Given the description of an element on the screen output the (x, y) to click on. 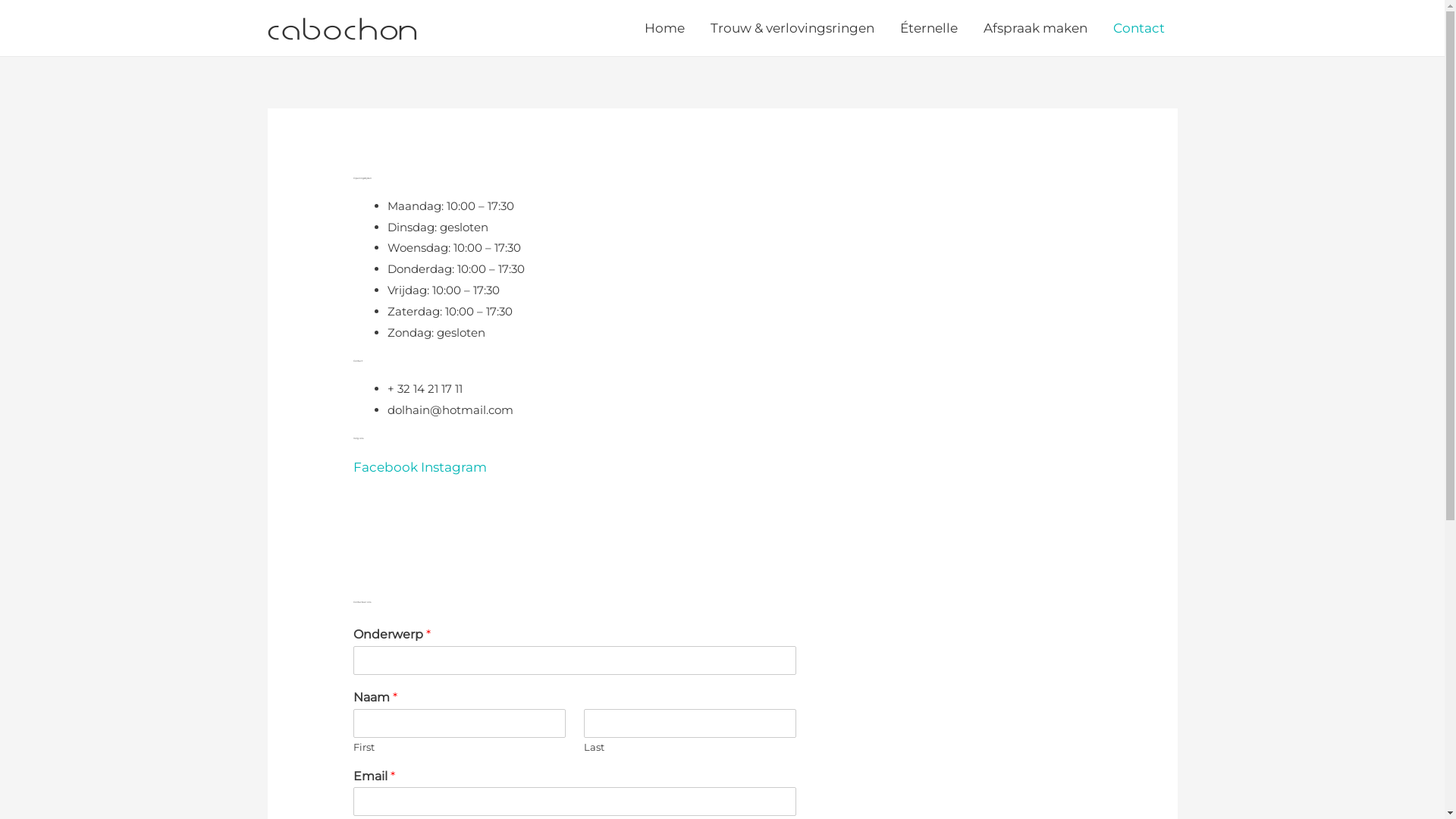
Contact Element type: text (1137, 28)
Afspraak maken Element type: text (1035, 28)
Instagram Element type: text (453, 466)
Trouw & verlovingsringen Element type: text (792, 28)
Facebook Element type: text (386, 466)
Home Element type: text (663, 28)
